Given the description of an element on the screen output the (x, y) to click on. 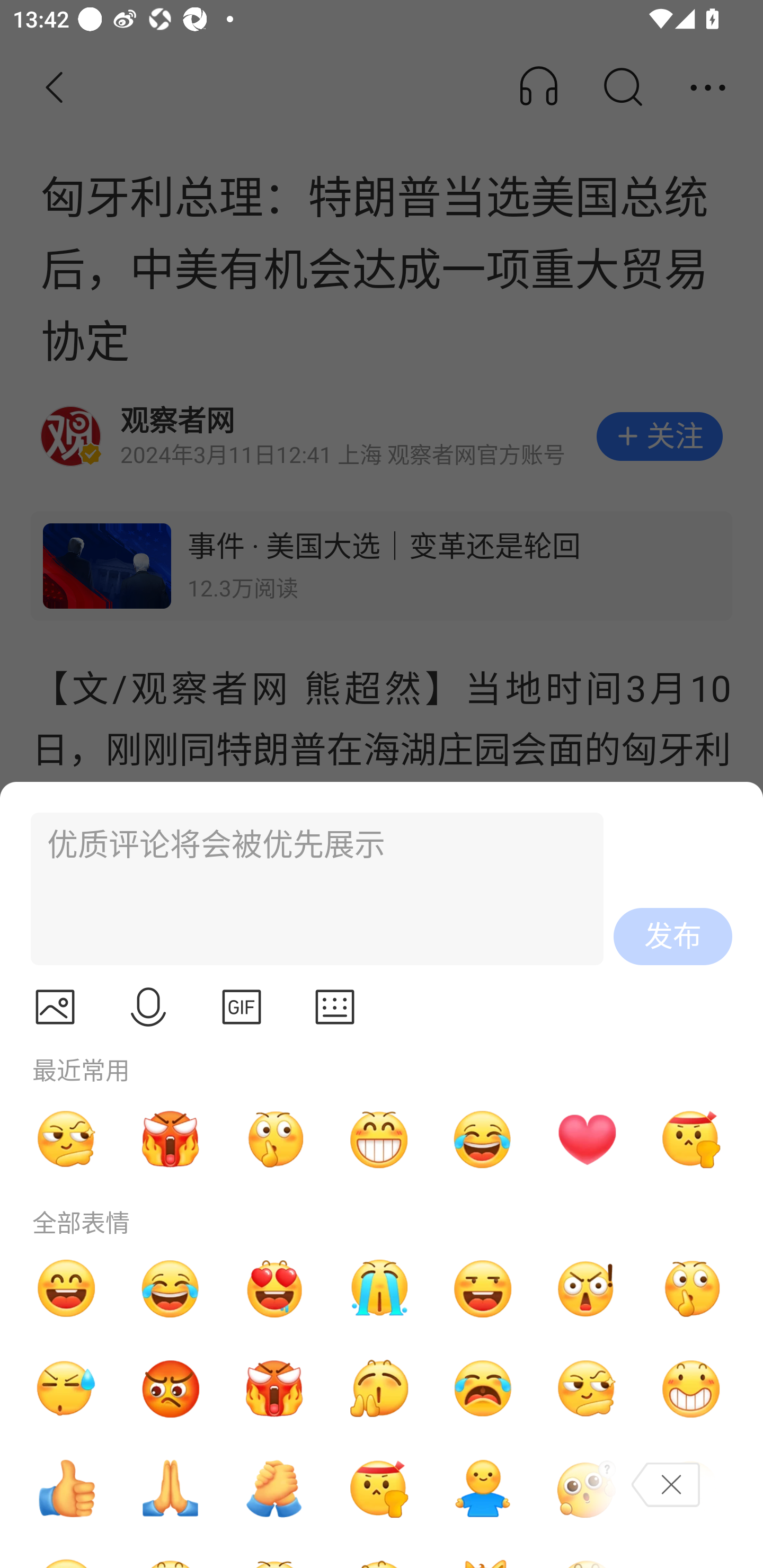
优质评论将会被优先展示 (308, 888)
发布 (672, 936)
 (54, 1007)
 (148, 1007)
 (241, 1007)
 (334, 1007)
机智 (66, 1138)
愤怒 (170, 1138)
嘘 (274, 1138)
呲牙 (378, 1138)
哭笑 (482, 1138)
心 (586, 1138)
奋斗 (690, 1138)
哈哈 (66, 1288)
哭笑 (170, 1288)
喜欢 (274, 1288)
哭 (378, 1288)
嘿嘿 (482, 1288)
吃惊 (586, 1288)
嘘 (690, 1288)
汗 (66, 1389)
生气 (170, 1389)
愤怒 (274, 1389)
喝彩 (378, 1389)
抓狂 (482, 1389)
机智 (586, 1389)
坏笑 (690, 1389)
点赞 (66, 1488)
缅怀 (170, 1488)
加油 (274, 1488)
奋斗 (378, 1488)
抱抱 (482, 1488)
疑问 (586, 1488)
